Given the description of an element on the screen output the (x, y) to click on. 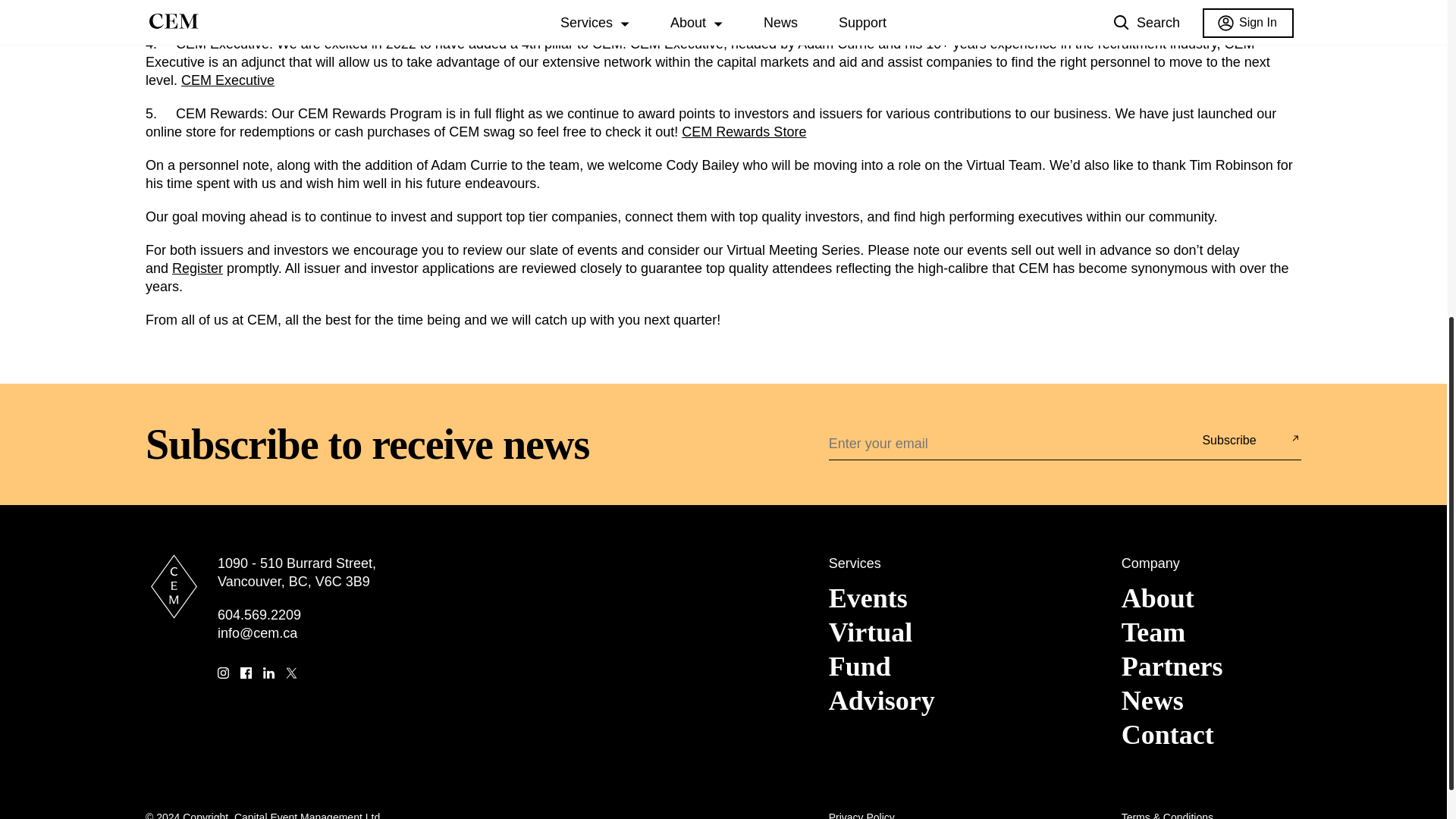
Fund (859, 666)
Partners (1172, 666)
About (1157, 598)
Virtual (870, 632)
Subscribe (1228, 440)
Subscribe (1228, 440)
Advisory (881, 700)
Register (196, 268)
CEM Rewards Store (743, 131)
Team (1153, 632)
Contact (1167, 734)
News (1152, 700)
Events (867, 598)
CEM Executive (227, 79)
CEM Virtual (1113, 10)
